Given the description of an element on the screen output the (x, y) to click on. 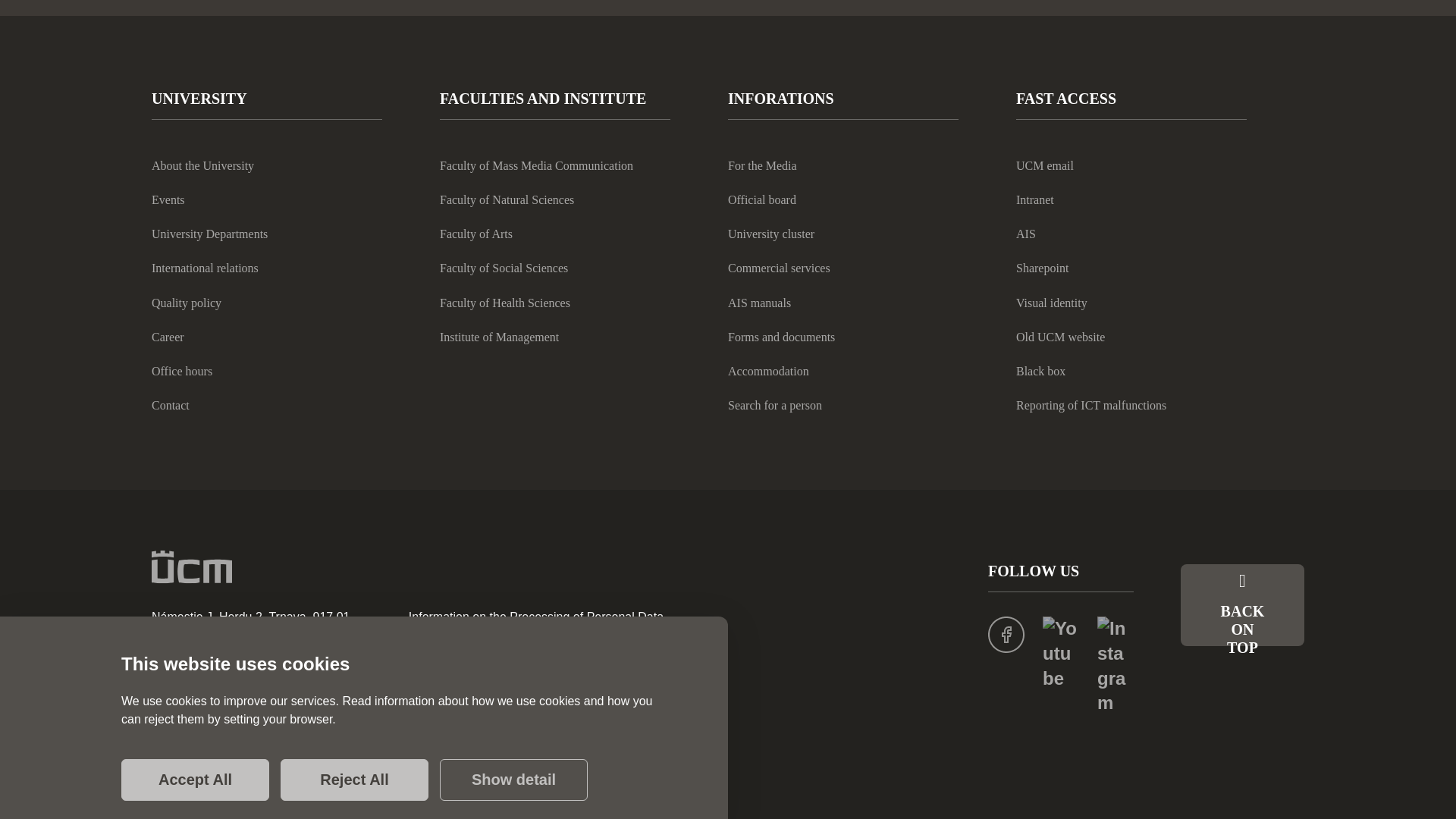
Faculty of Social Sciences (503, 268)
Faculty of Arts (475, 233)
Open in new window (1115, 664)
Open in new window (1042, 268)
Open in new window (1035, 199)
Faculty of Natural Sciences (506, 199)
Open in new window (1091, 405)
University Departments (209, 233)
Faculty of Mass Media Communication (536, 165)
Open in new window (1025, 233)
